Given the description of an element on the screen output the (x, y) to click on. 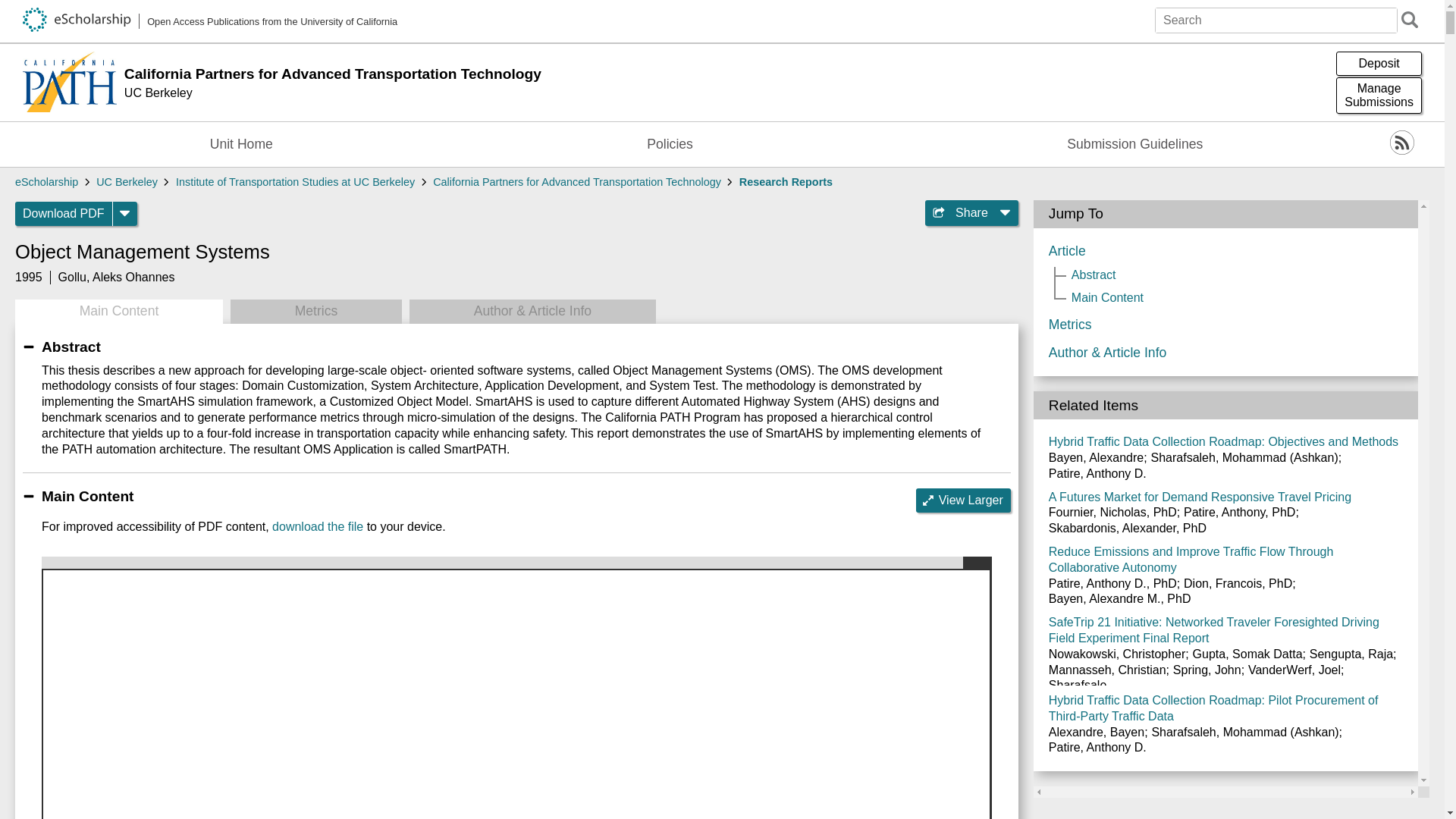
Gollu, Aleks Ohannes (116, 277)
View Larger (1379, 94)
Main Content (962, 500)
Metrics (118, 311)
California Partners for Advanced Transportation Technology (315, 311)
Research Reports (725, 73)
UC Berkeley (785, 182)
eScholarship (725, 100)
UC Berkeley (46, 182)
